Given the description of an element on the screen output the (x, y) to click on. 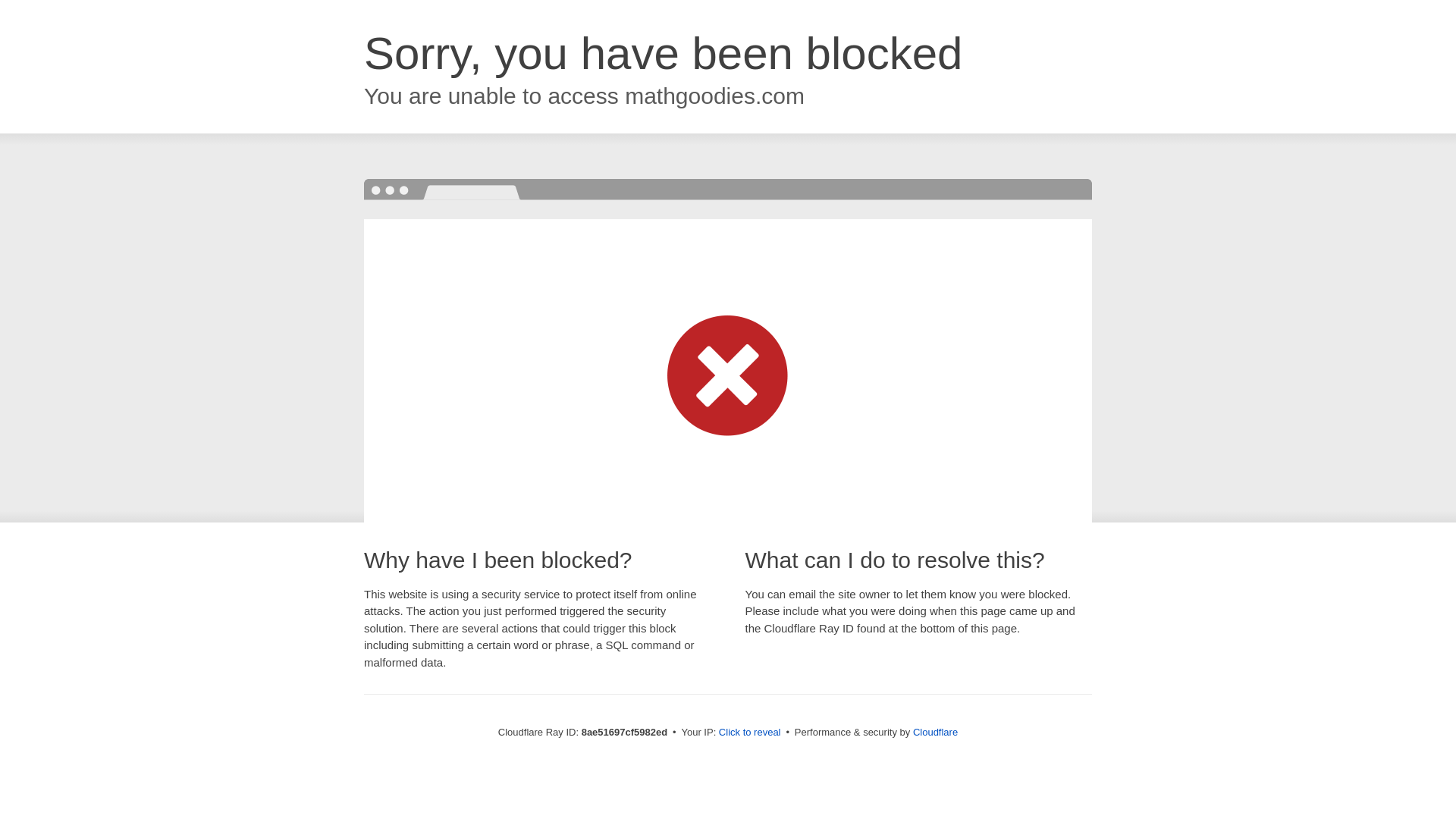
Click to reveal (749, 732)
Cloudflare (935, 731)
